Given the description of an element on the screen output the (x, y) to click on. 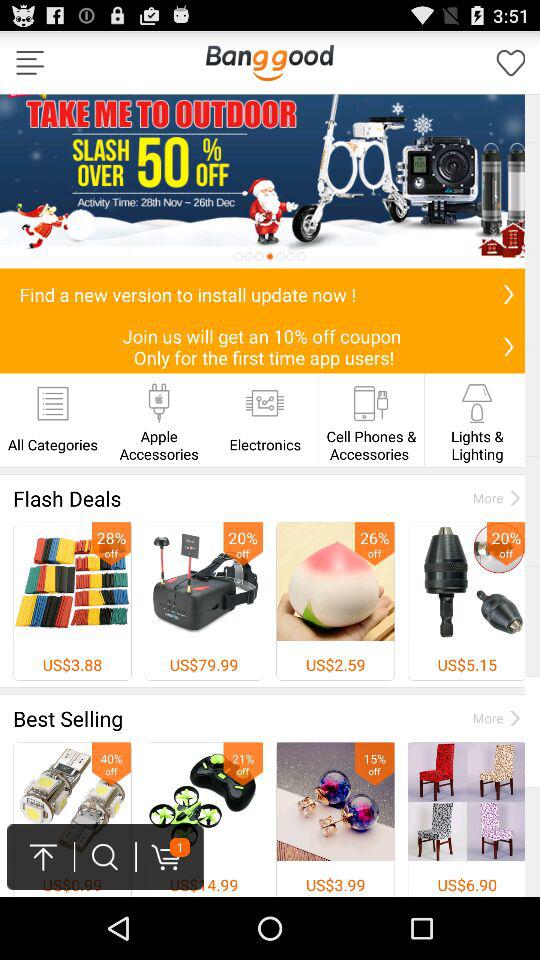
update (508, 294)
